Given the description of an element on the screen output the (x, y) to click on. 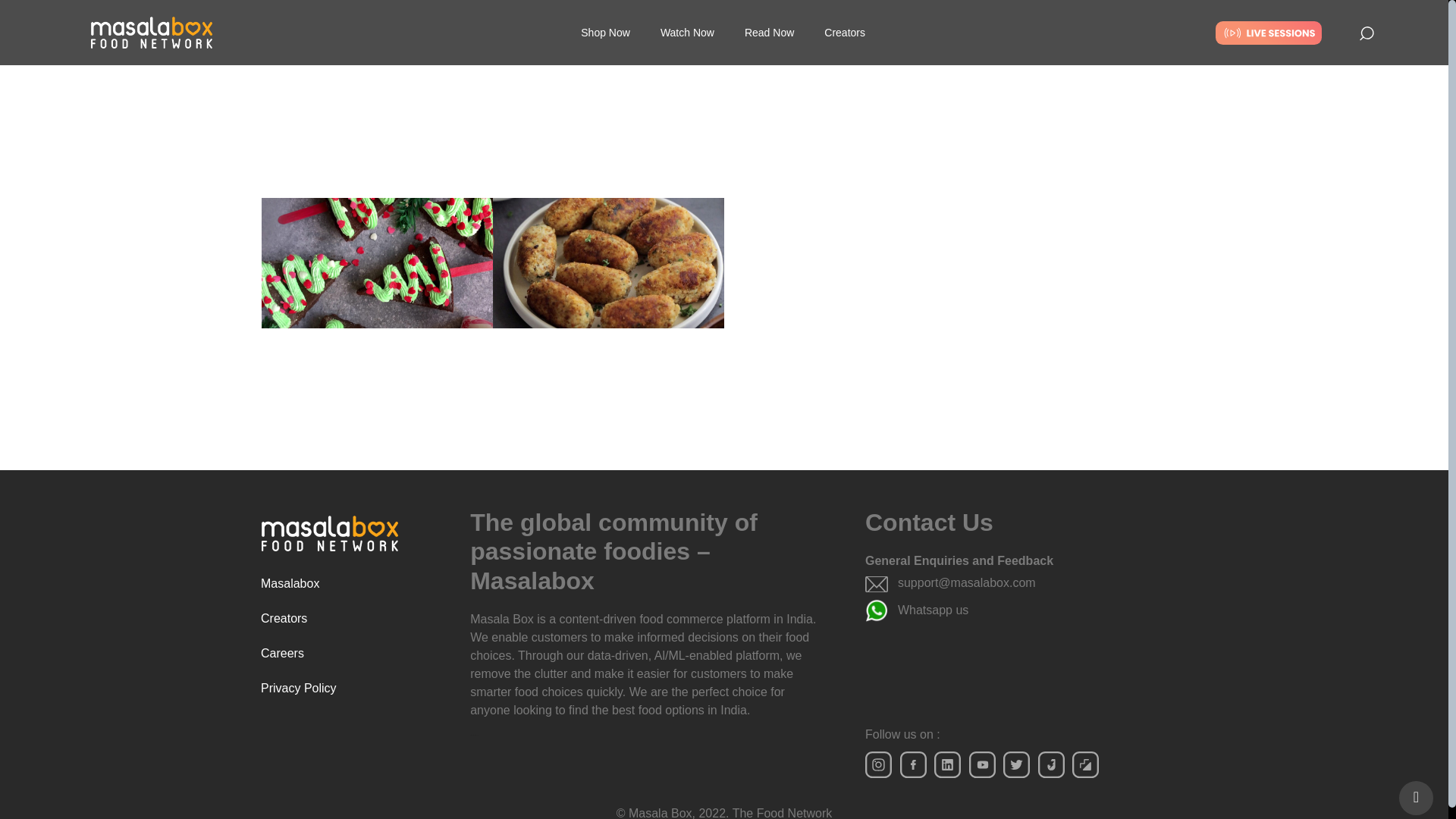
Creators (354, 618)
Xmas Brownie tree cake (319, 455)
Masalabox (354, 583)
Creators (844, 25)
Chicken Croquettes (539, 455)
Read Now (769, 13)
Careers (354, 653)
Privacy Policy (354, 687)
Watch Now (687, 12)
